Given the description of an element on the screen output the (x, y) to click on. 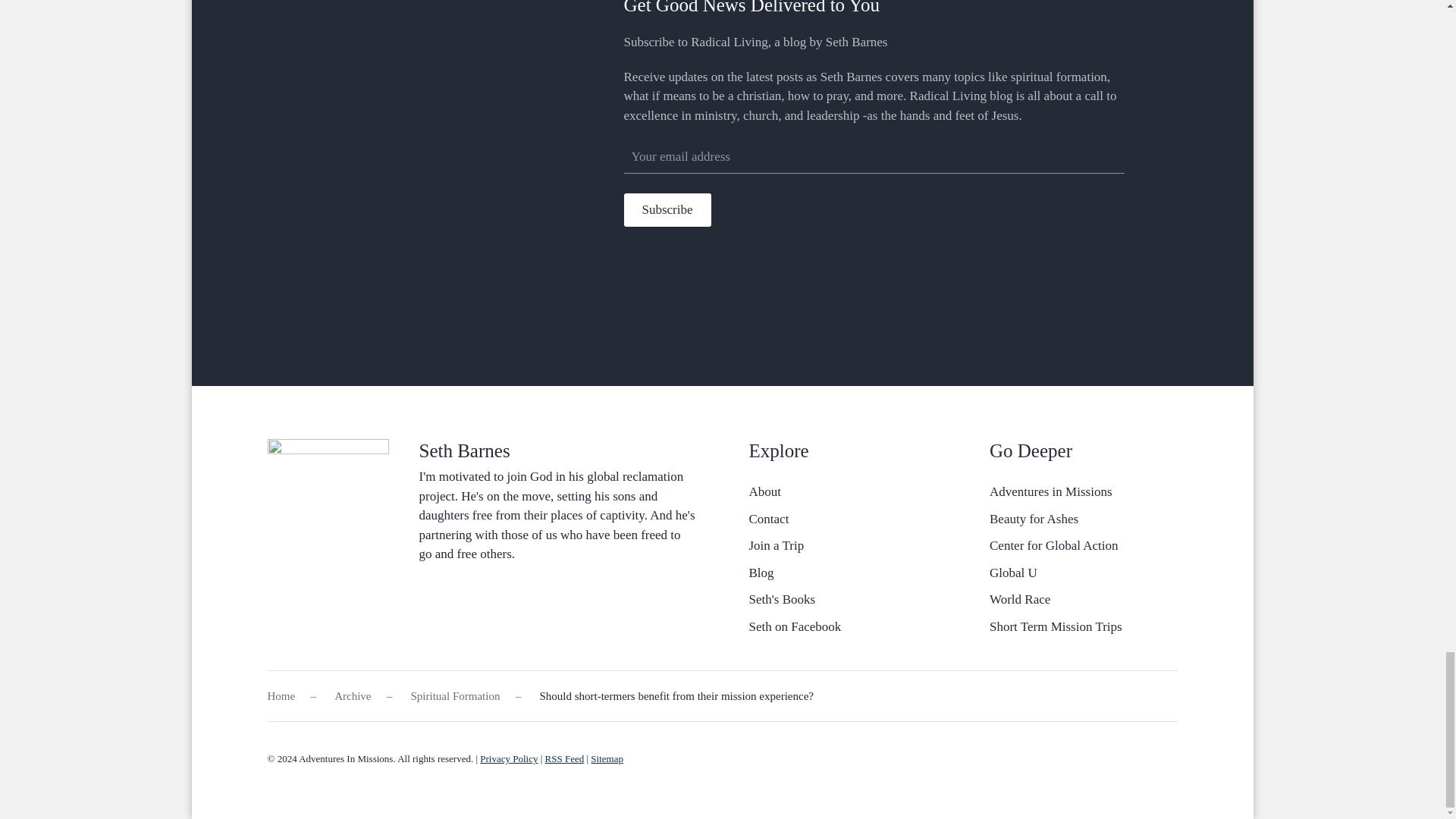
About (843, 492)
Contact (843, 519)
Join a Trip (843, 545)
Subscribe (666, 209)
